Given the description of an element on the screen output the (x, y) to click on. 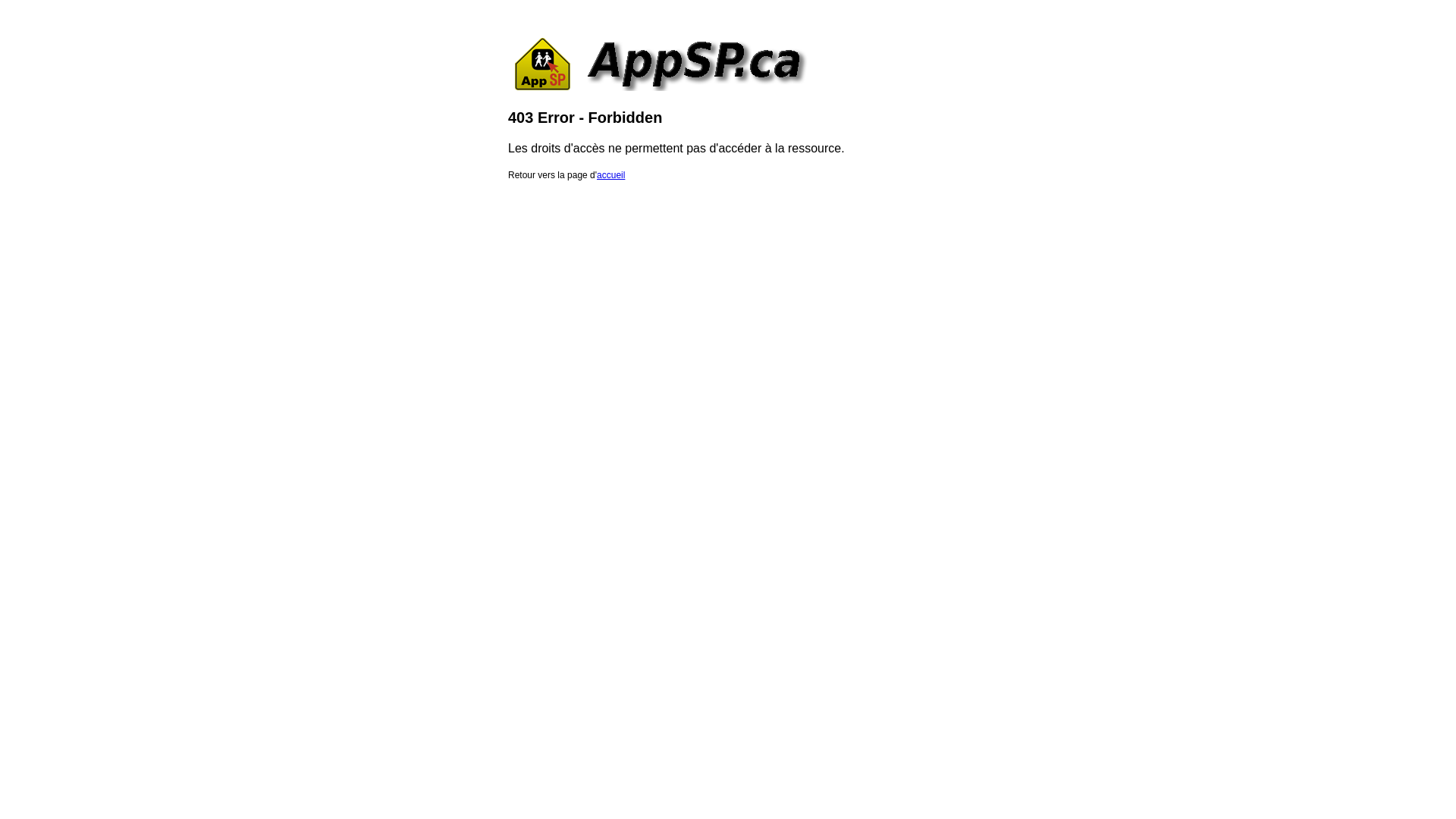
accueil Element type: text (610, 174)
